Given the description of an element on the screen output the (x, y) to click on. 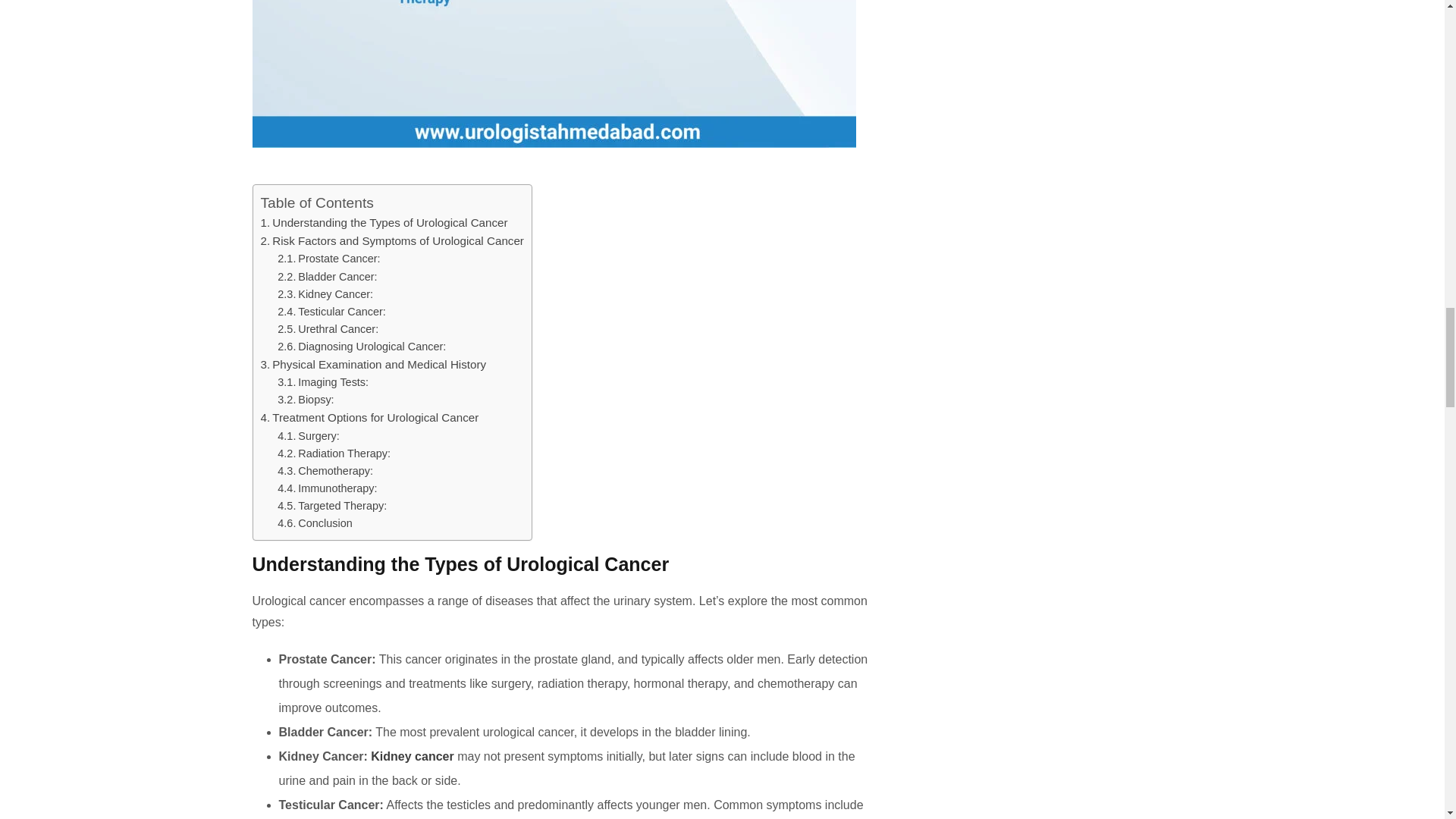
Urethral Cancer: (328, 328)
Understanding the Types of Urological Cancer (384, 222)
Testicular Cancer: (331, 311)
Kidney Cancer: (325, 294)
Bladder Cancer: (327, 275)
Prostate Cancer: (329, 258)
Risk Factors and Symptoms of Urological Cancer (392, 240)
Diagnosing Urological Cancer: (361, 346)
